Given the description of an element on the screen output the (x, y) to click on. 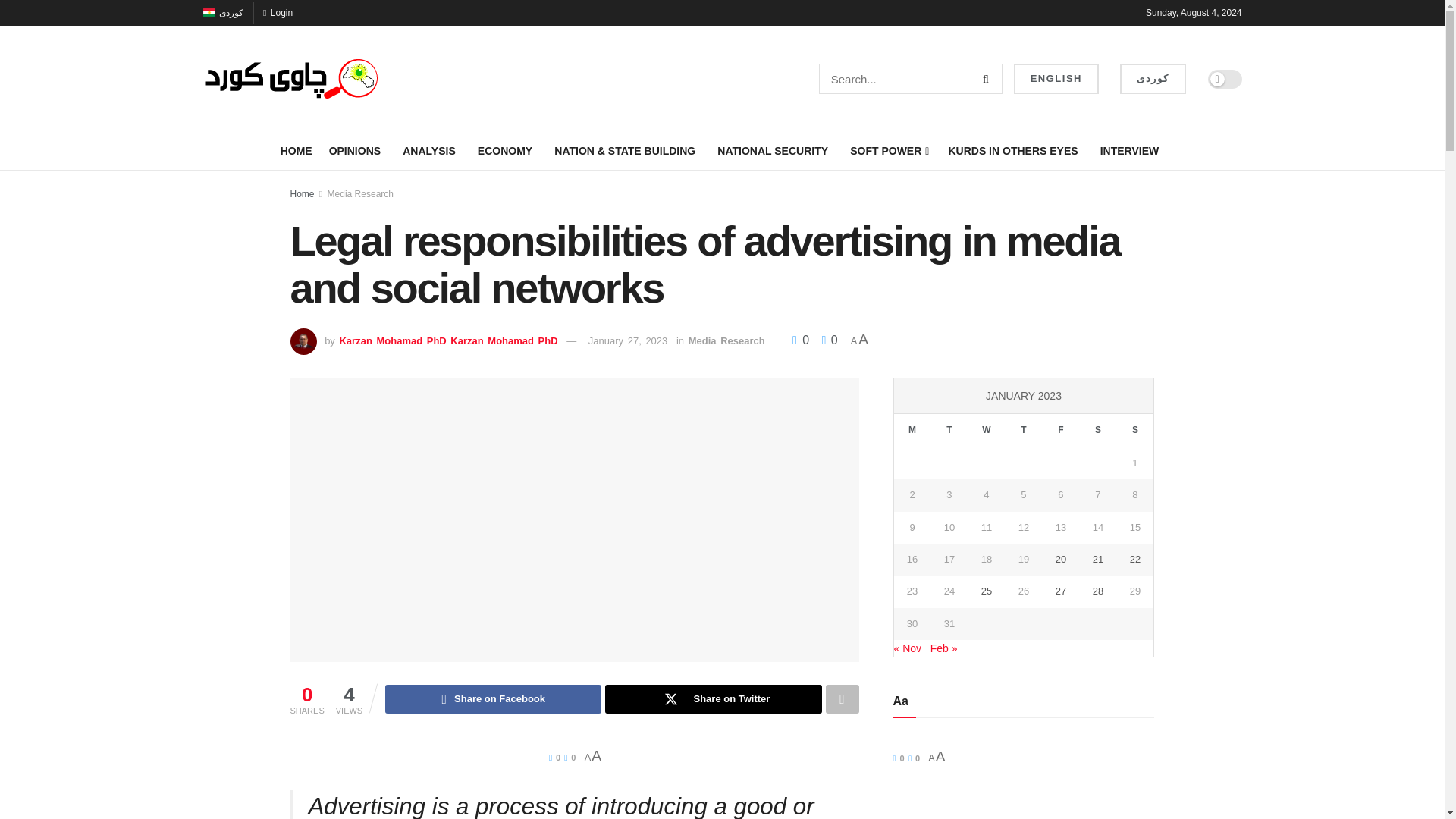
Tuesday (949, 430)
OPINIONS (358, 150)
Thursday (1023, 430)
ANALYSIS (432, 150)
Monday (911, 430)
HOME (297, 150)
Sunday (1134, 430)
ENGLISH (1056, 78)
Friday (1060, 430)
Wednesday (986, 430)
ECONOMY (507, 150)
Login (277, 12)
Saturday (1097, 430)
